Given the description of an element on the screen output the (x, y) to click on. 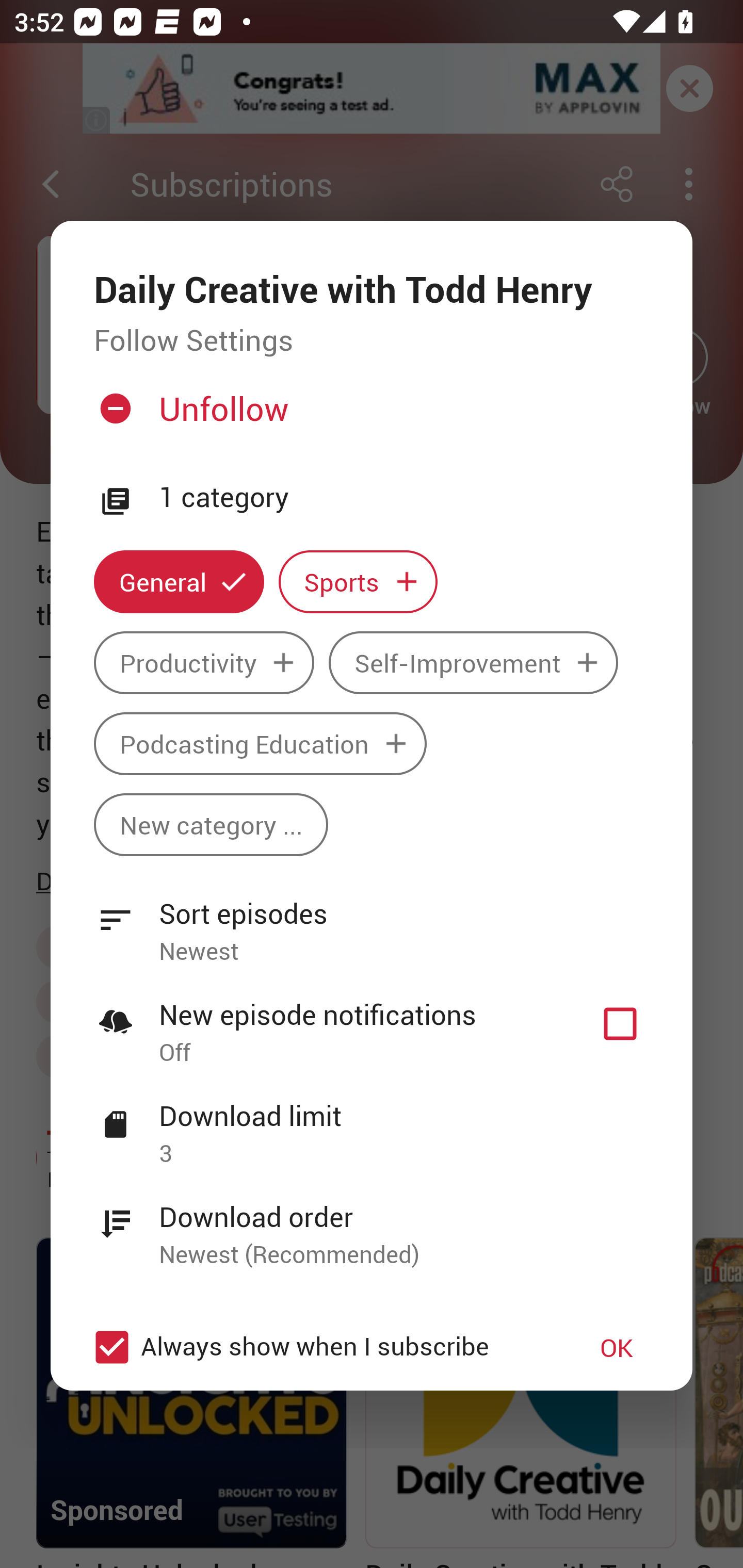
Unfollow (369, 417)
1 category (404, 497)
General (178, 581)
Sports (357, 581)
Productivity (203, 662)
Self-Improvement (473, 662)
Podcasting Education (259, 742)
New category ... (210, 824)
Sort episodes Newest (371, 921)
New episode notifications (620, 1023)
Download limit 3 (371, 1123)
Download order Newest (Recommended) (371, 1224)
OK (616, 1347)
Always show when I subscribe (320, 1347)
